Given the description of an element on the screen output the (x, y) to click on. 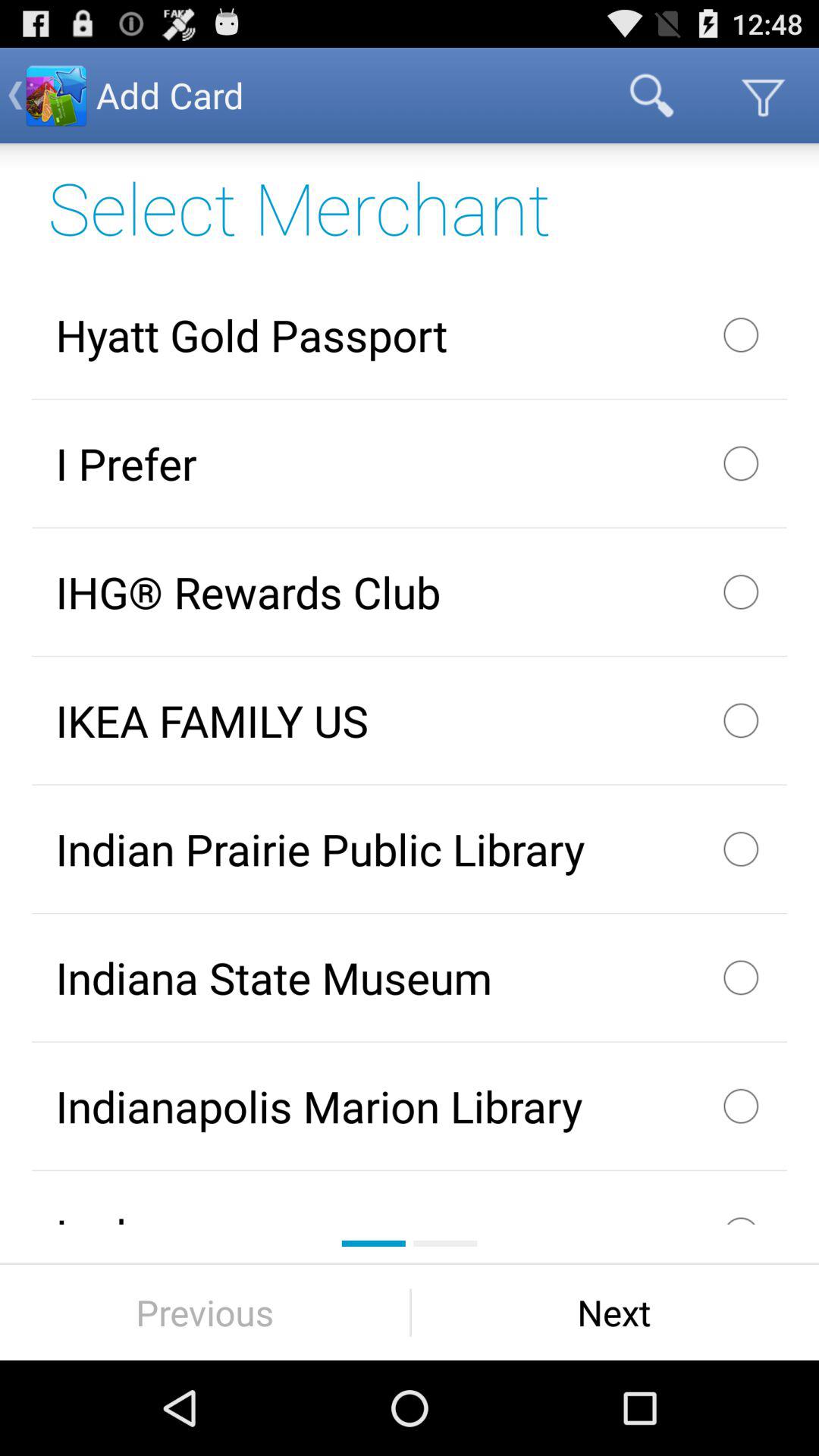
swipe until indiana state museum item (409, 977)
